Given the description of an element on the screen output the (x, y) to click on. 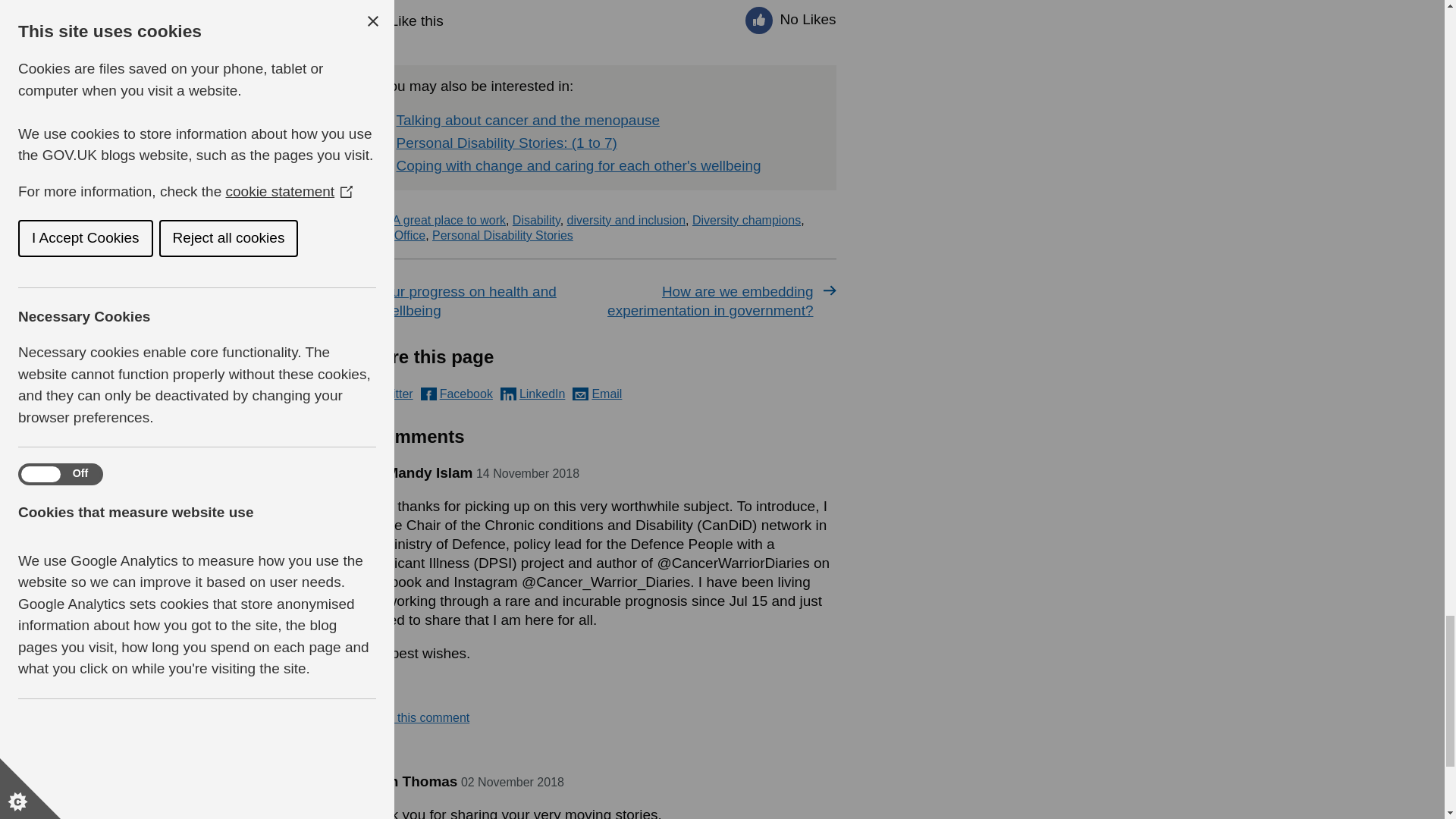
A great place to work (449, 219)
Like this (402, 19)
How are we embedding experimentation in government? (718, 300)
Link to this comment (413, 717)
Diversity champions (746, 219)
Personal Disability Stories (502, 235)
Facebook (456, 393)
Home Office (391, 235)
Coping with change and caring for each other's wellbeing (578, 165)
Talking about cancer and the menopause (527, 119)
LinkedIn (533, 393)
Disability (536, 219)
Our progress on health and wellbeing (475, 300)
Twitter (385, 393)
diversity and inclusion (626, 219)
